Given the description of an element on the screen output the (x, y) to click on. 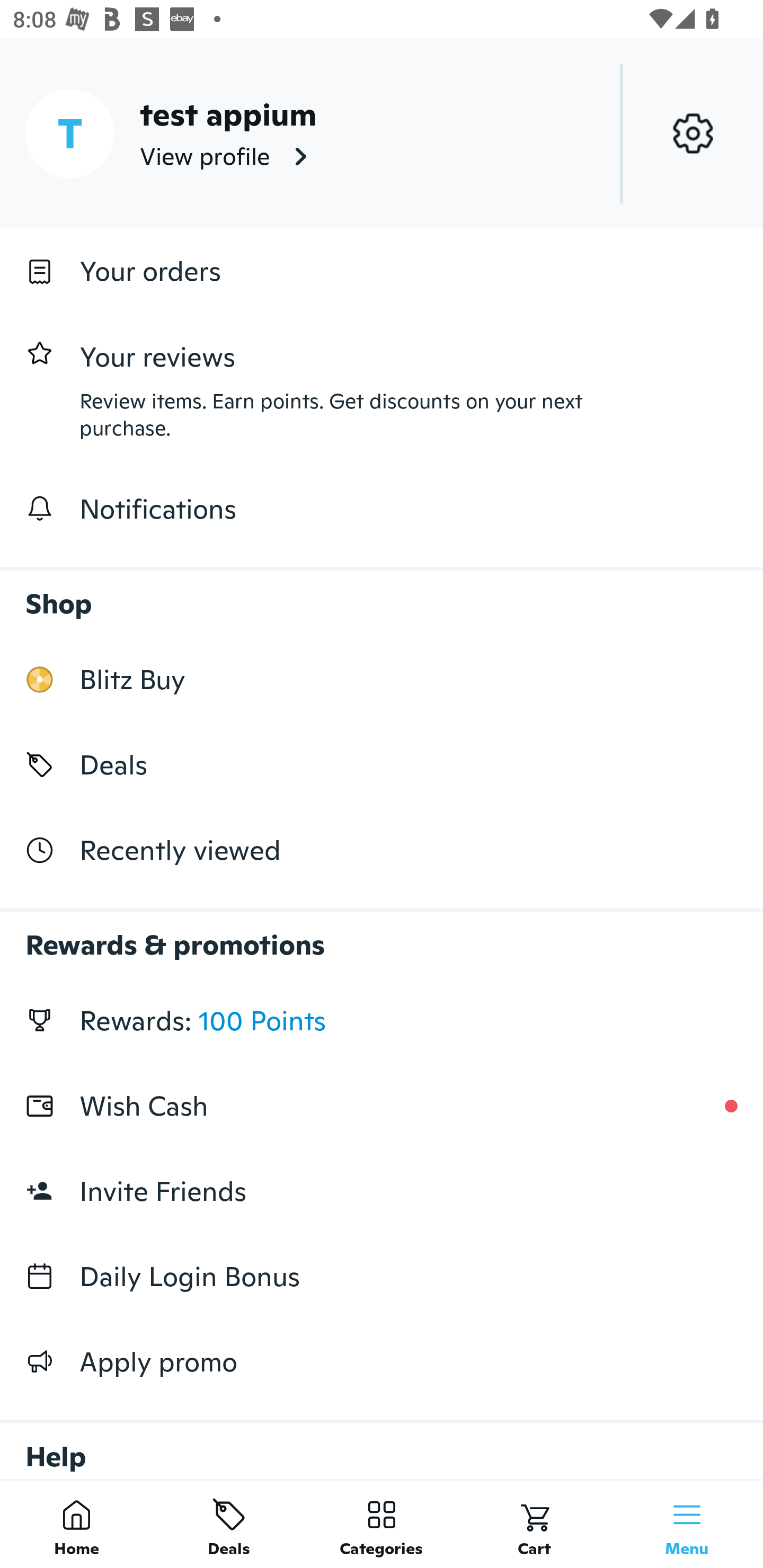
T test appium View profile (381, 132)
Your orders (381, 270)
Notifications (381, 508)
Shop (381, 593)
Blitz Buy (381, 679)
Deals (381, 764)
Recently viewed (381, 850)
Rewards & promotions (381, 935)
Rewards: 100 Points (381, 1020)
Wish Cash (381, 1106)
Invite Friends (381, 1190)
Daily Login Bonus (381, 1277)
Apply promo (381, 1361)
Help (381, 1441)
Home (76, 1523)
Deals (228, 1523)
Categories (381, 1523)
Cart (533, 1523)
Menu (686, 1523)
